Given the description of an element on the screen output the (x, y) to click on. 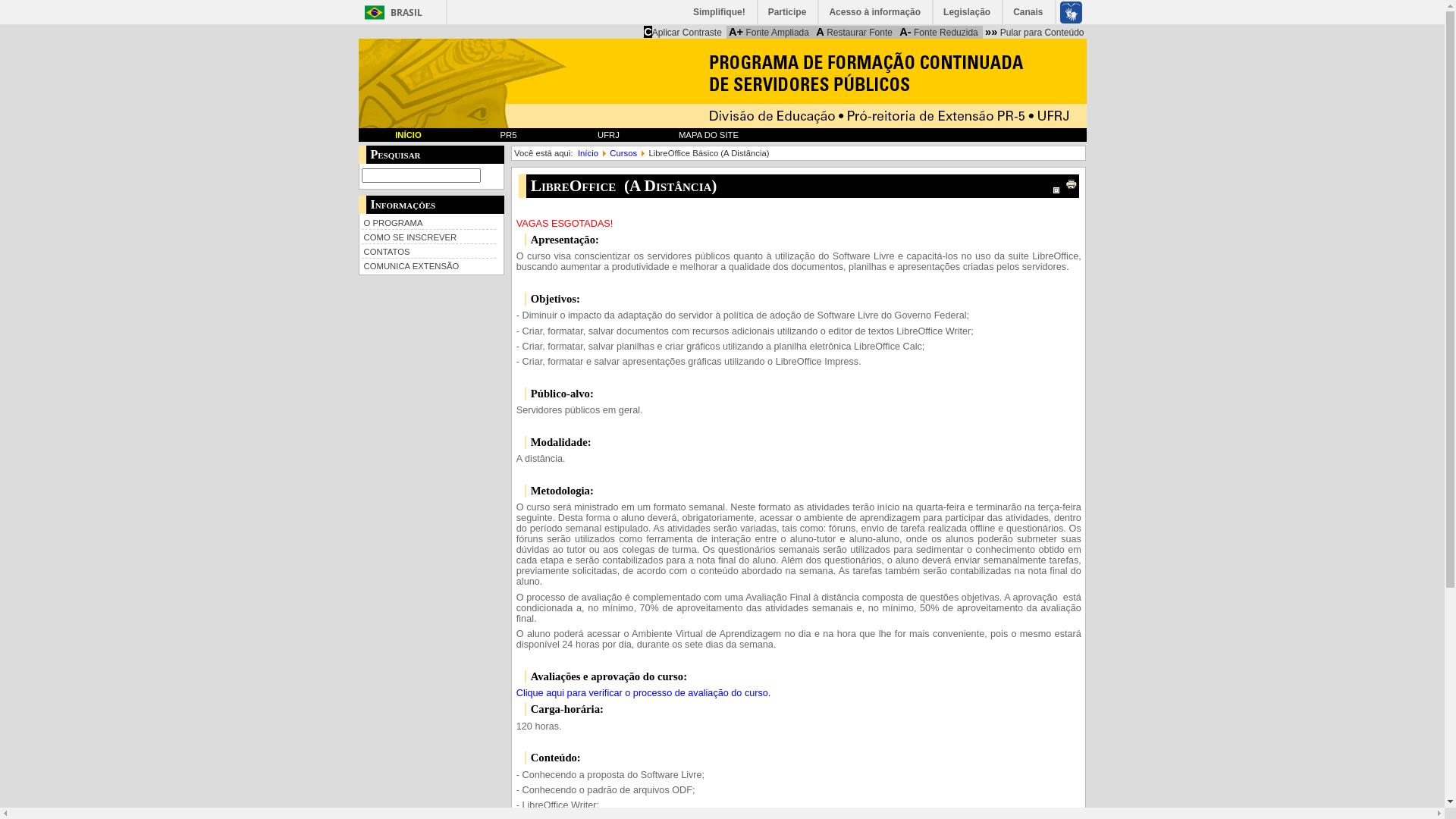
Imprimir Element type: text (1082, 183)
O PROGRAMA Element type: text (427, 222)
Participe Element type: text (788, 11)
PR5 Element type: text (508, 134)
COMO SE INSCREVER Element type: text (427, 236)
Cursos Element type: text (623, 152)
Canais Element type: text (1028, 11)
CONTATOS Element type: text (427, 250)
UFRJ Element type: text (608, 134)
MAPA DO SITE Element type: text (708, 134)
Simplifique! Element type: text (719, 11)
A- Fonte Reduzida Element type: text (938, 31)
CAplicar Contraste Element type: text (682, 31)
BRASIL Element type: text (389, 12)
A Restaurar Fonte Element type: text (853, 31)
A+ Fonte Ampliada Element type: text (768, 31)
